Given the description of an element on the screen output the (x, y) to click on. 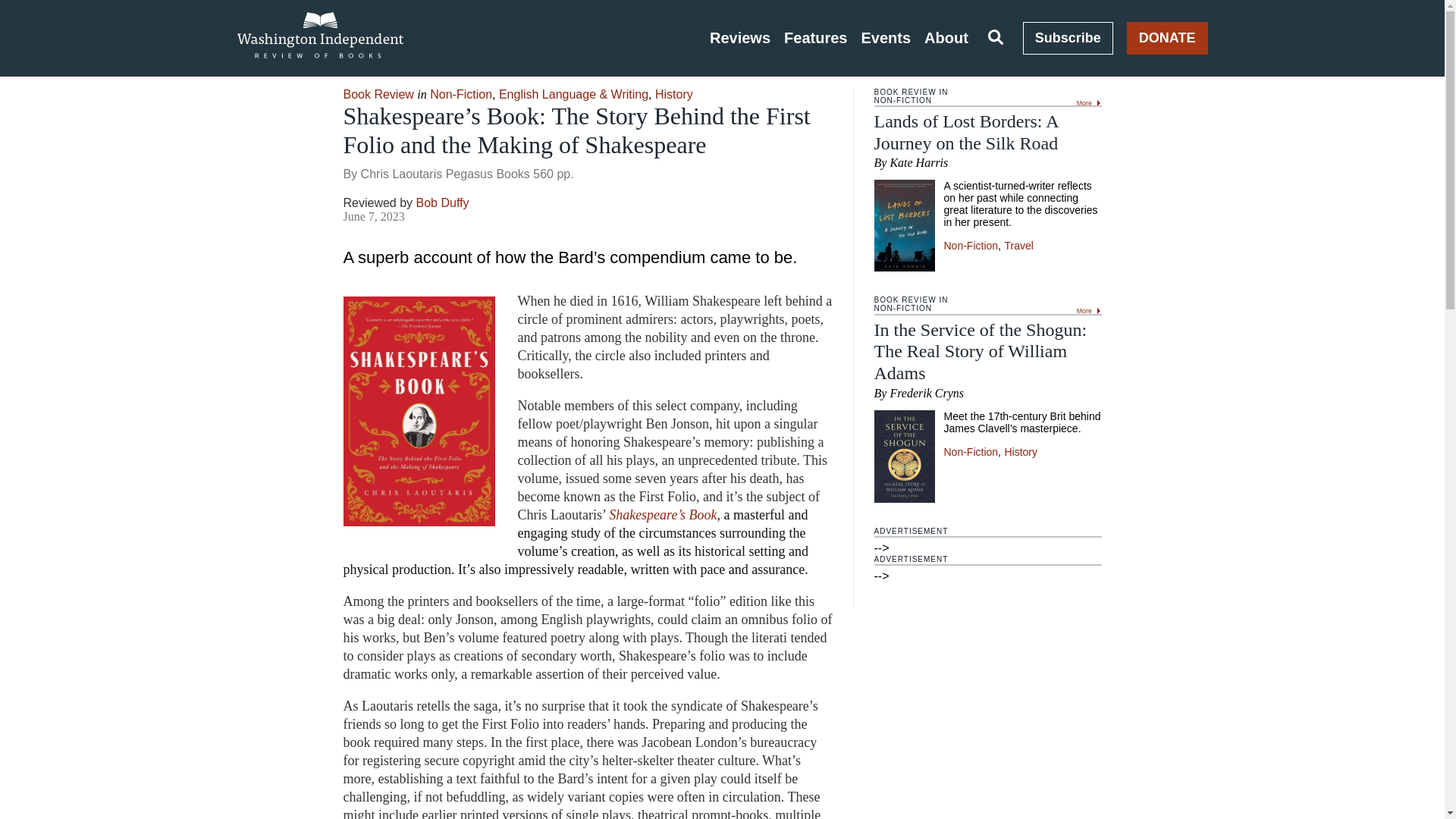
Lands of Lost Borders: A Journey on the Silk Road (965, 132)
Reviews (740, 37)
Non-Fiction (460, 93)
Bob Duffy (442, 202)
Subscribe (1068, 38)
Non-Fiction (970, 451)
About (946, 37)
DONATE (1167, 38)
Travel (1018, 245)
Non-Fiction (970, 245)
